Given the description of an element on the screen output the (x, y) to click on. 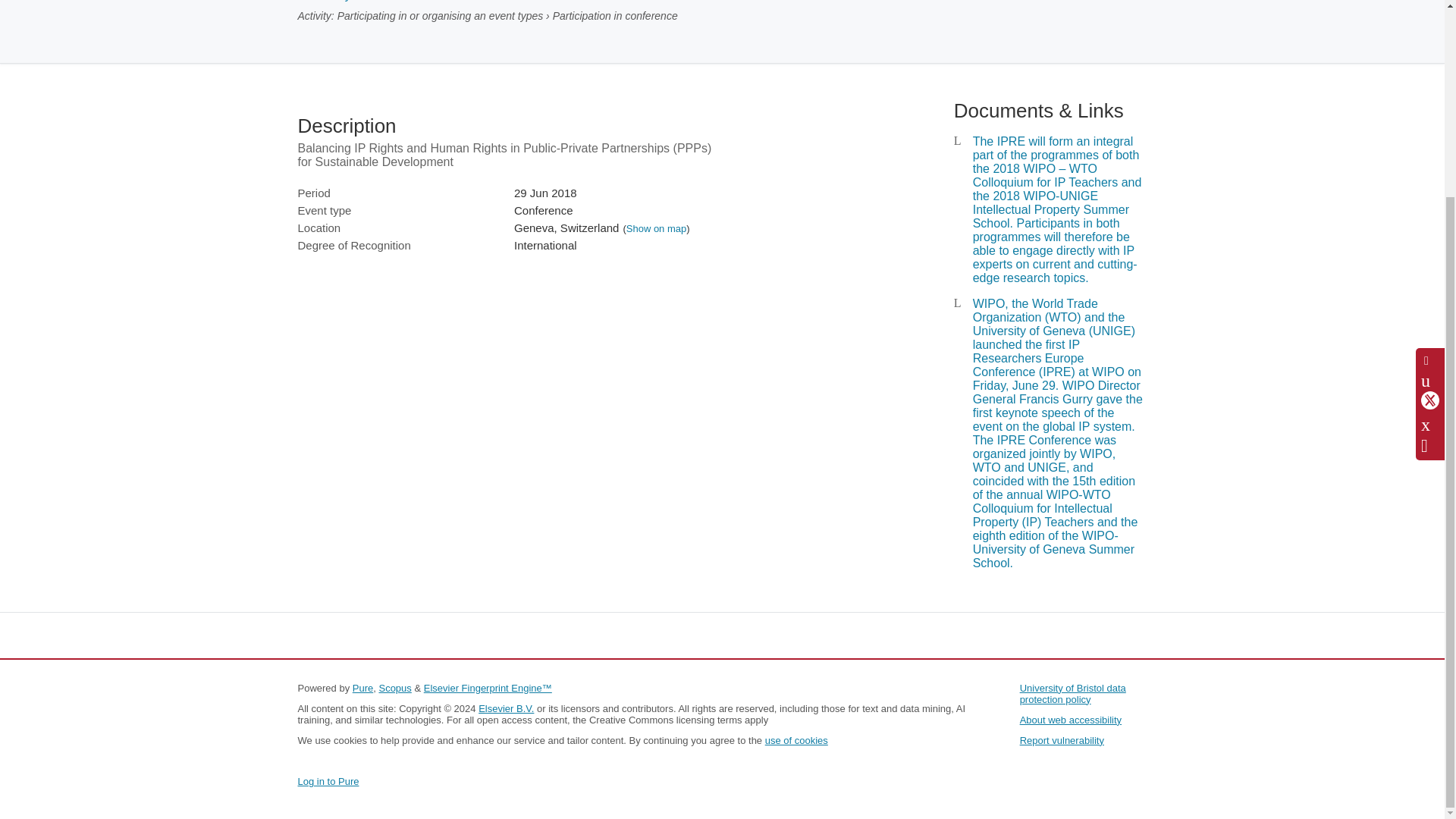
X (1430, 150)
use of cookies (796, 740)
Scopus (394, 687)
Show on map (656, 228)
Report vulnerability (1061, 740)
About web accessibility (1070, 719)
Log in to Pure (327, 781)
Pure (362, 687)
University of Bristol data protection policy (1072, 693)
Elsevier B.V. (506, 708)
